Given the description of an element on the screen output the (x, y) to click on. 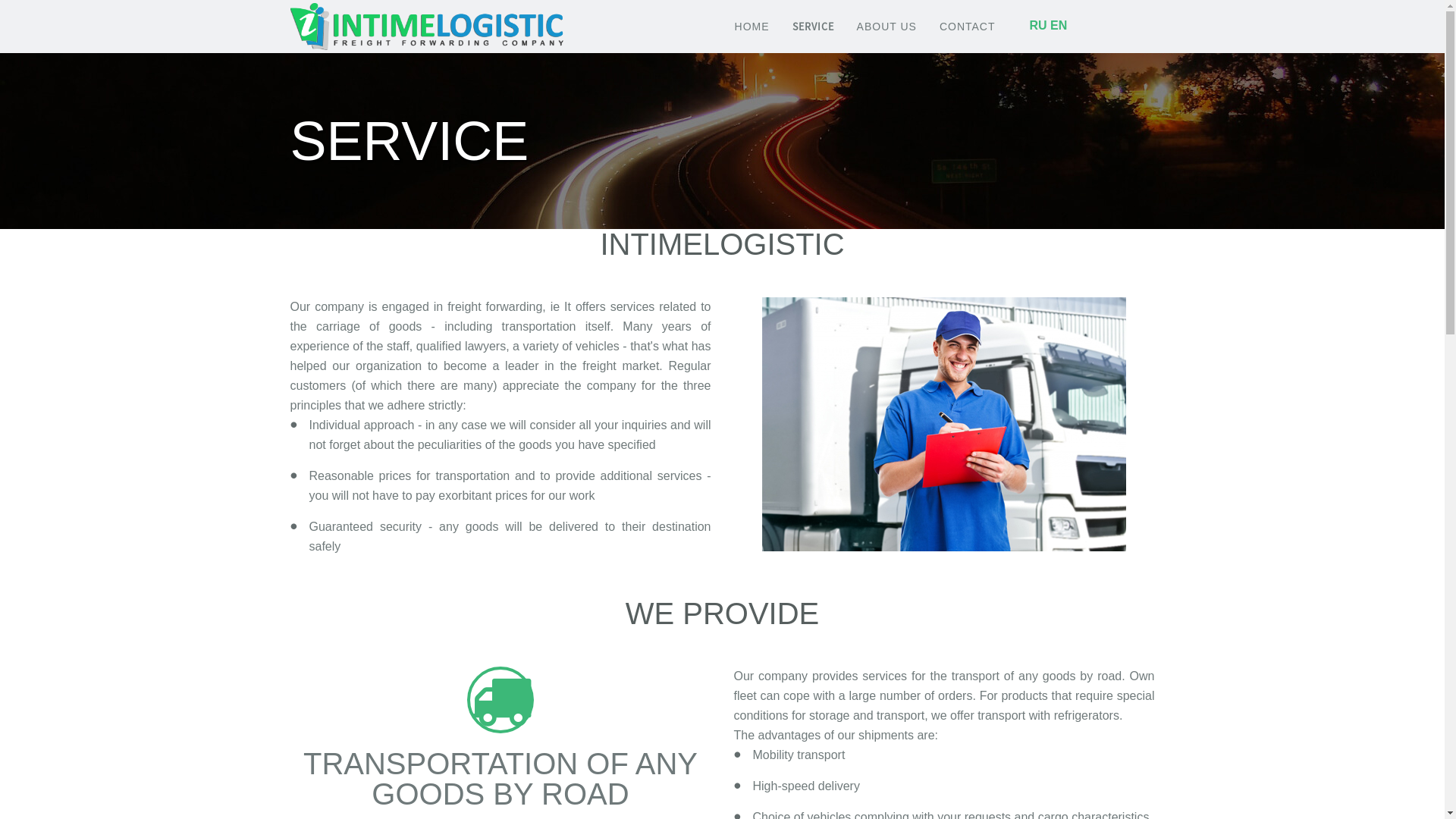
HOME Element type: text (752, 26)
SERVICE Element type: text (813, 26)
ABOUT US Element type: text (886, 26)
CONTACT Element type: text (967, 26)
RU Element type: text (1038, 25)
EN Element type: text (1058, 25)
